Given the description of an element on the screen output the (x, y) to click on. 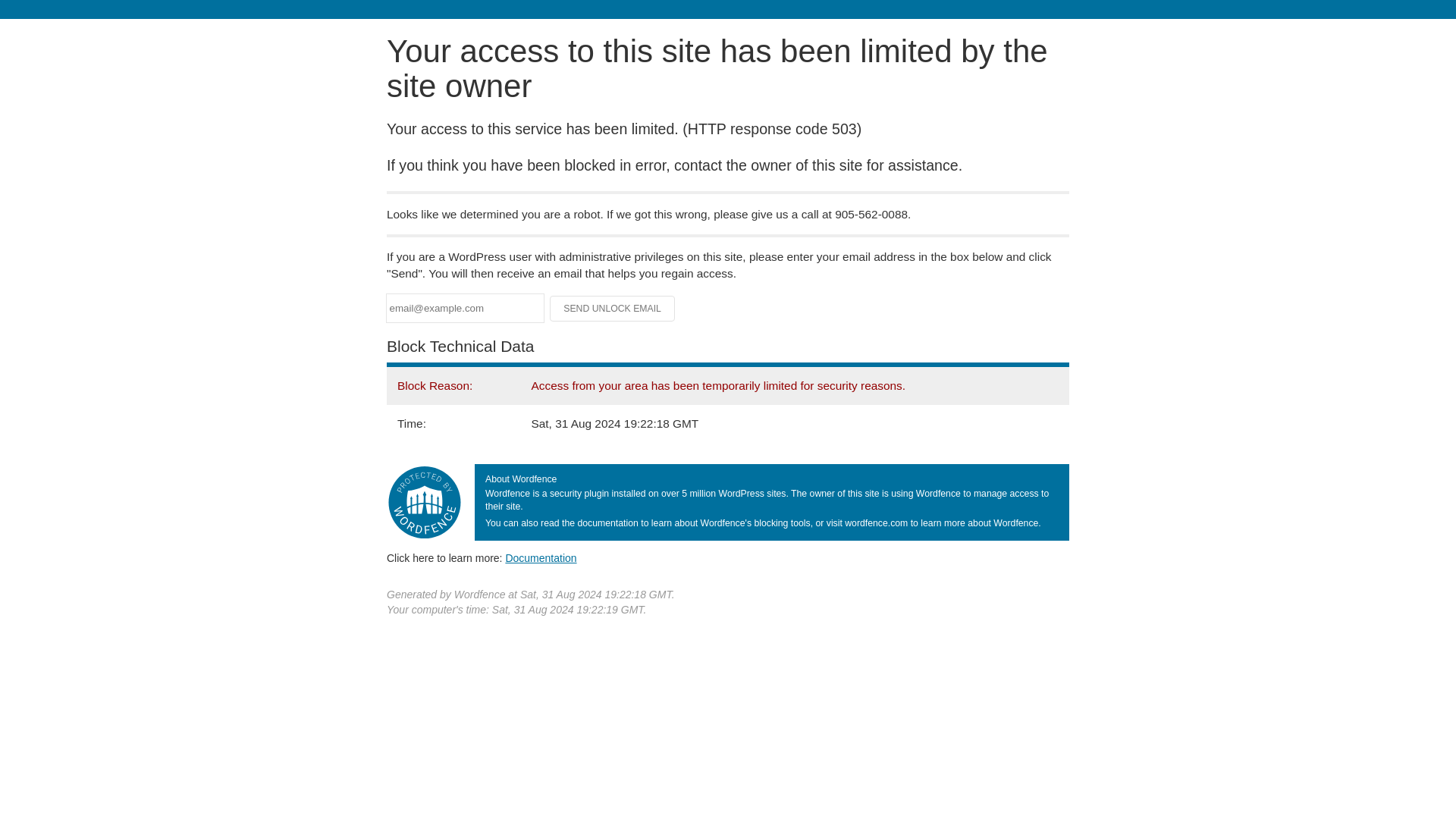
Send Unlock Email (612, 308)
Send Unlock Email (612, 308)
Documentation (540, 558)
